Given the description of an element on the screen output the (x, y) to click on. 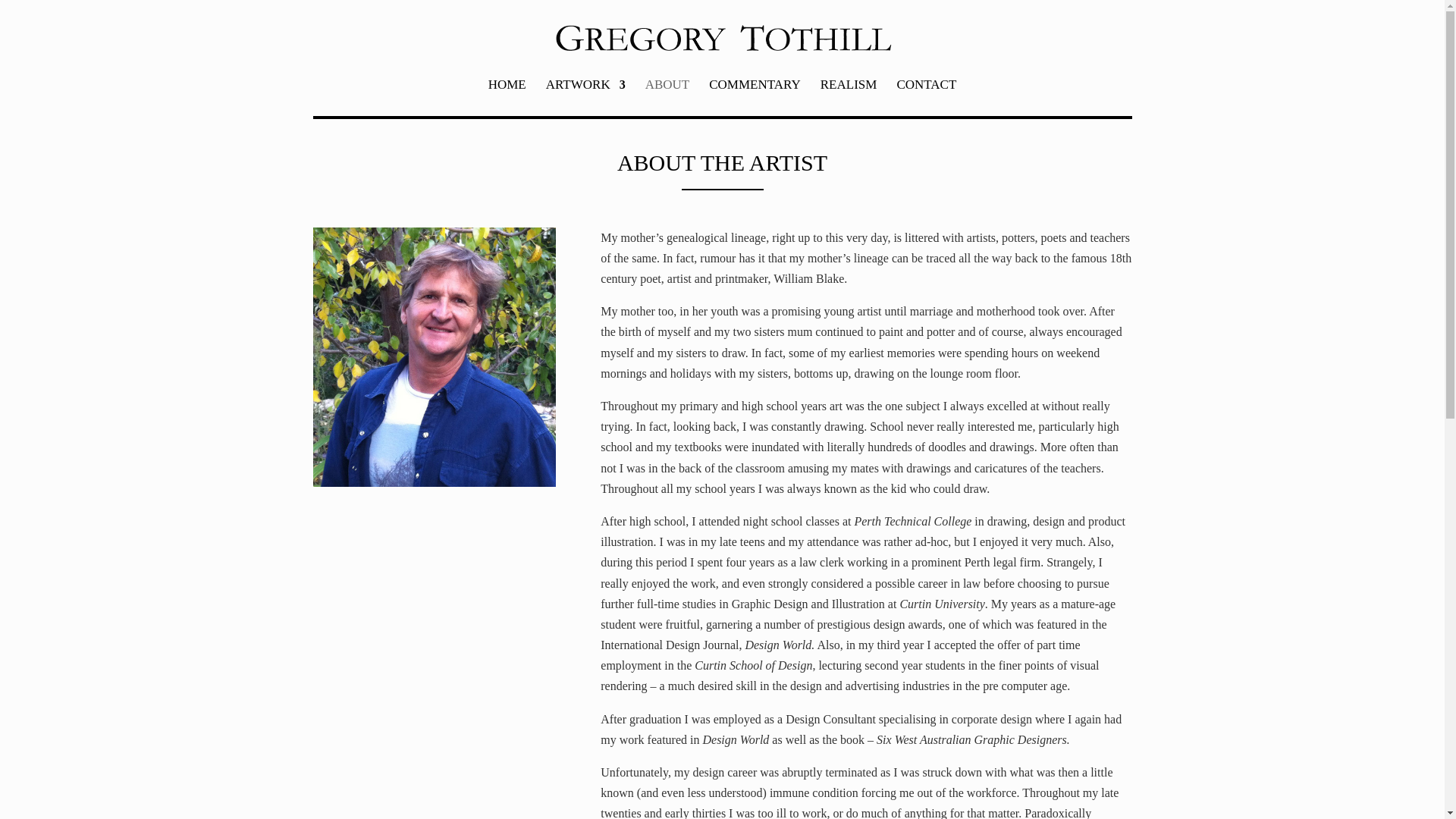
COMMENTARY (754, 97)
ABOUT (667, 97)
REALISM (849, 97)
ARTWORK (586, 97)
HOME (506, 97)
CONTACT (926, 97)
